Given the description of an element on the screen output the (x, y) to click on. 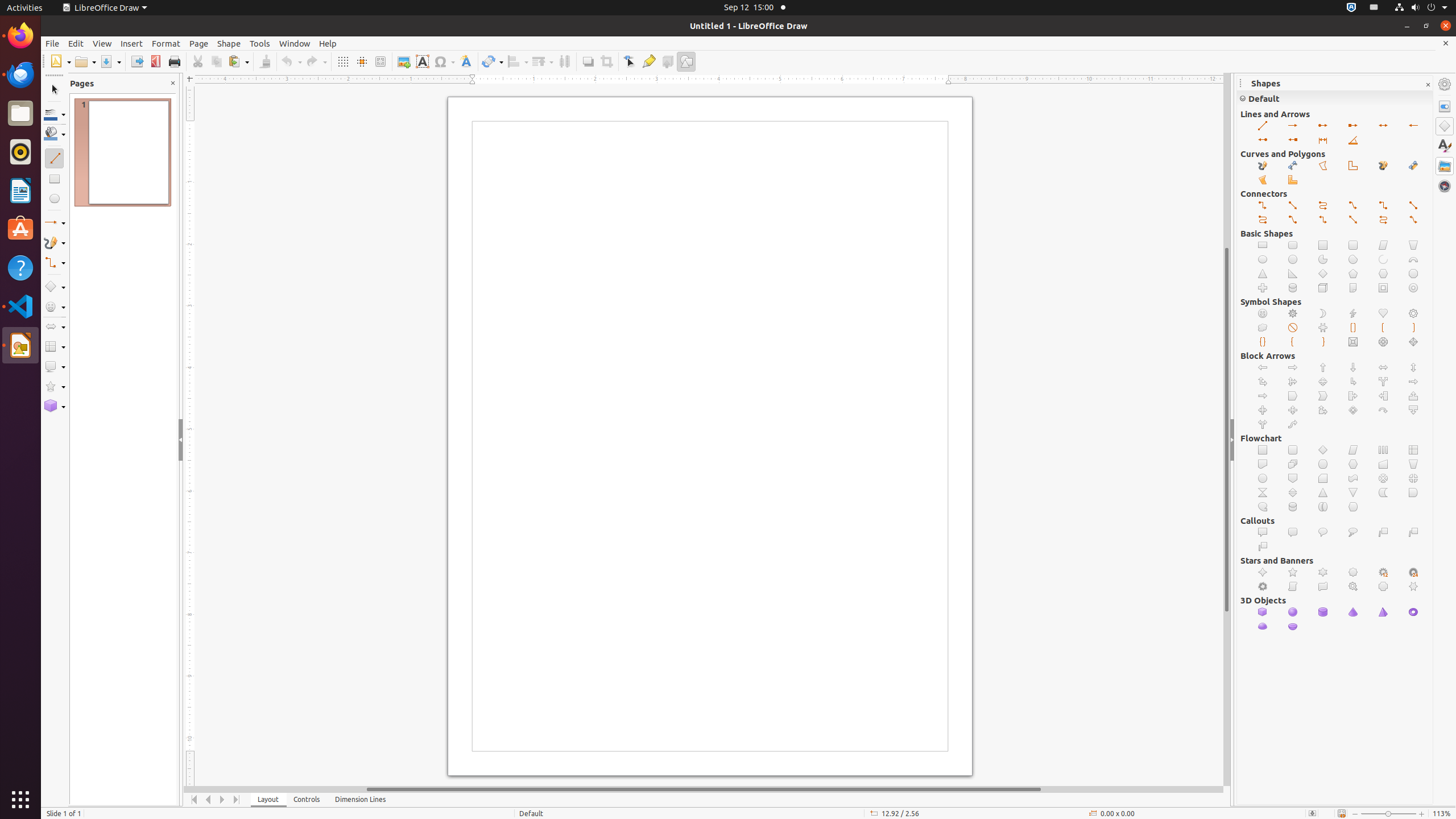
Grid Element type: toggle-button (342, 61)
S-shaped Arrow Element type: list-item (1292, 424)
Move Left Element type: push-button (208, 799)
Rectangle, Rounded Element type: list-item (1292, 245)
Double Bracket Element type: list-item (1353, 327)
